Given the description of an element on the screen output the (x, y) to click on. 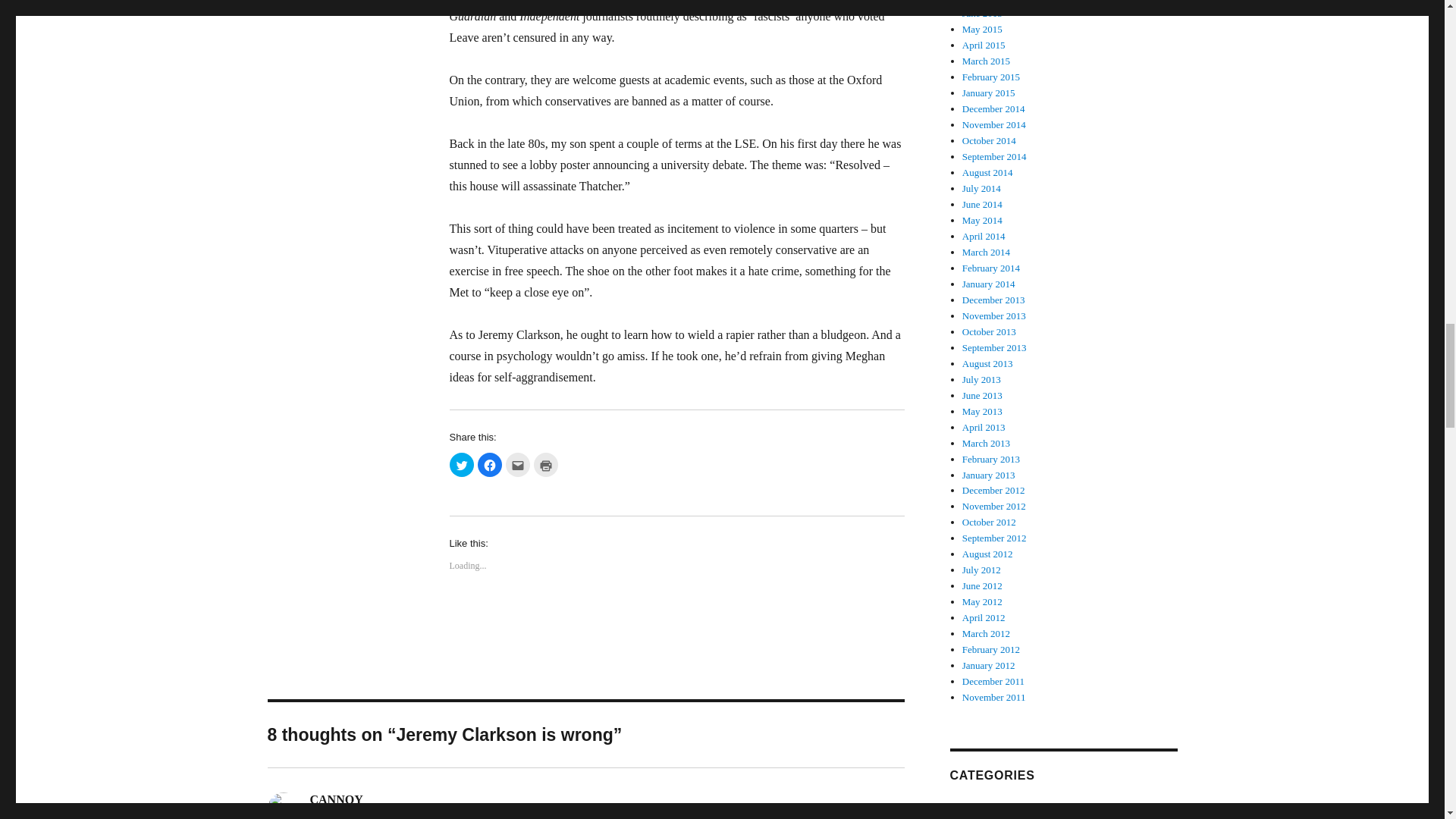
Click to share on Twitter (460, 464)
Click to share on Facebook (489, 464)
Click to email this to a friend (517, 464)
22nd December 2022 at 8:59 pm (380, 815)
Click to print (545, 464)
